Given the description of an element on the screen output the (x, y) to click on. 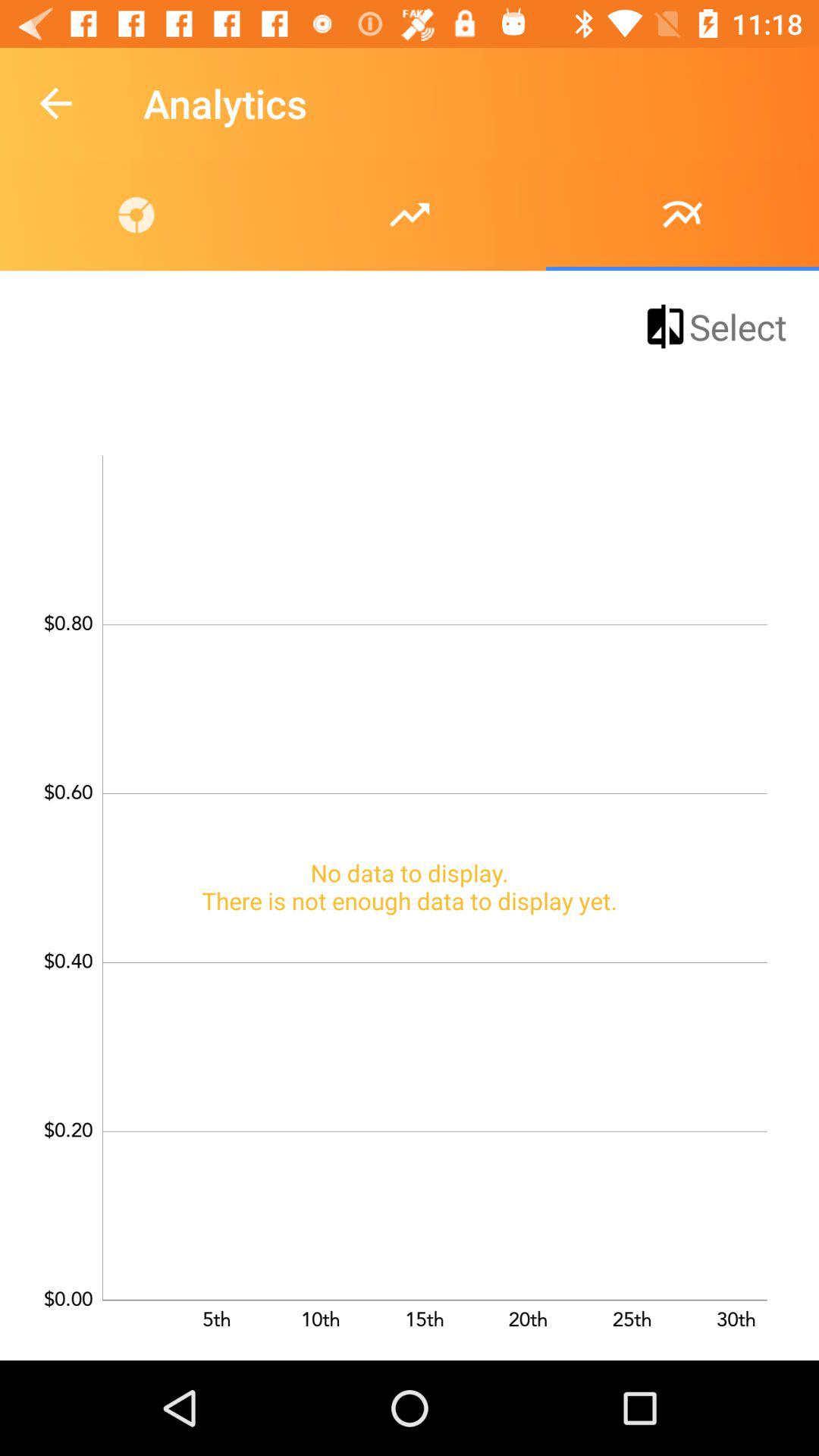
flip until the select item (714, 326)
